Given the description of an element on the screen output the (x, y) to click on. 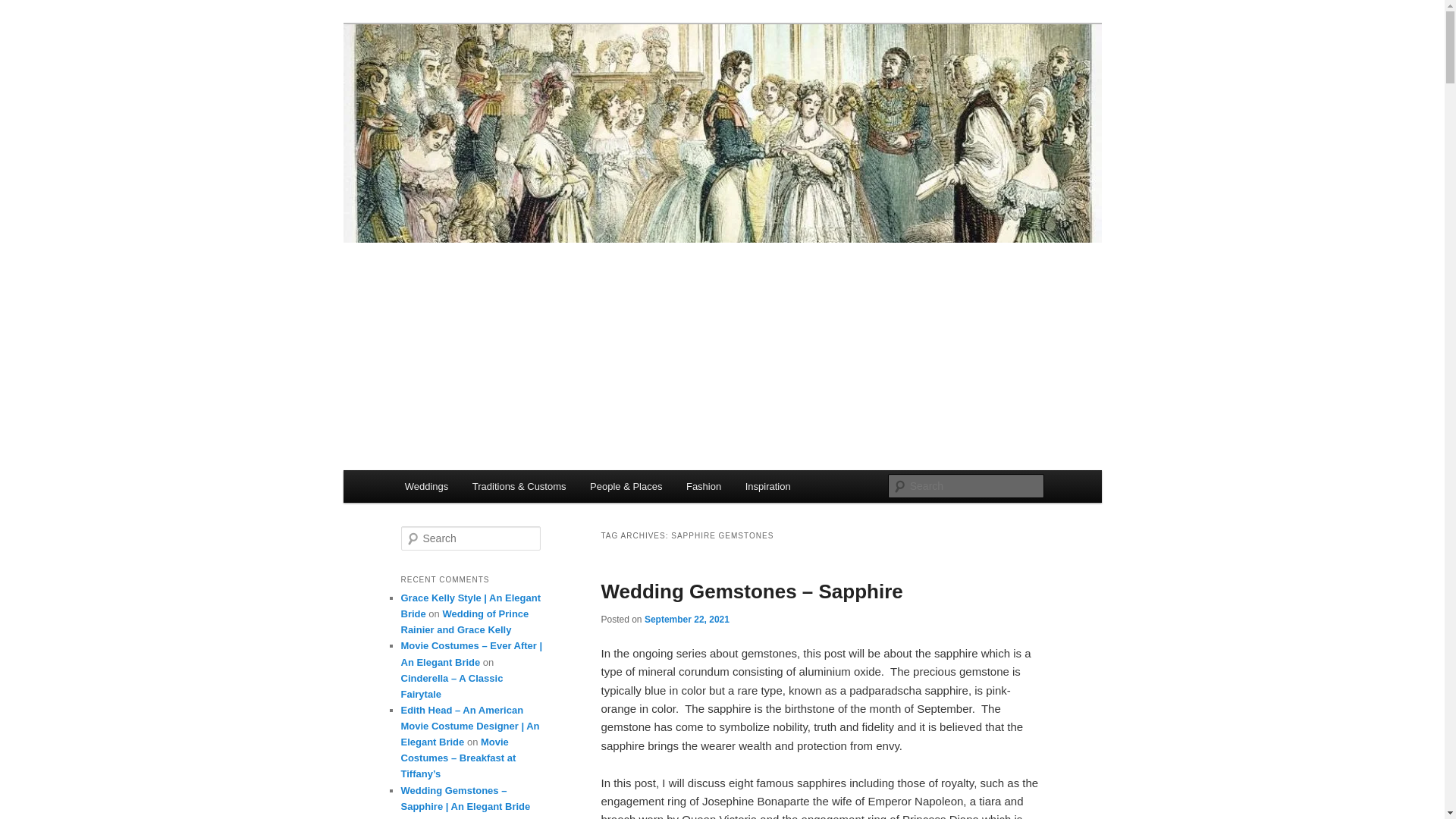
Search (24, 8)
September 22, 2021 (687, 619)
Inspiration (767, 486)
Fashion (703, 486)
An Elegant Bride (491, 78)
8:00 AM (687, 619)
Weddings (426, 486)
